Given the description of an element on the screen output the (x, y) to click on. 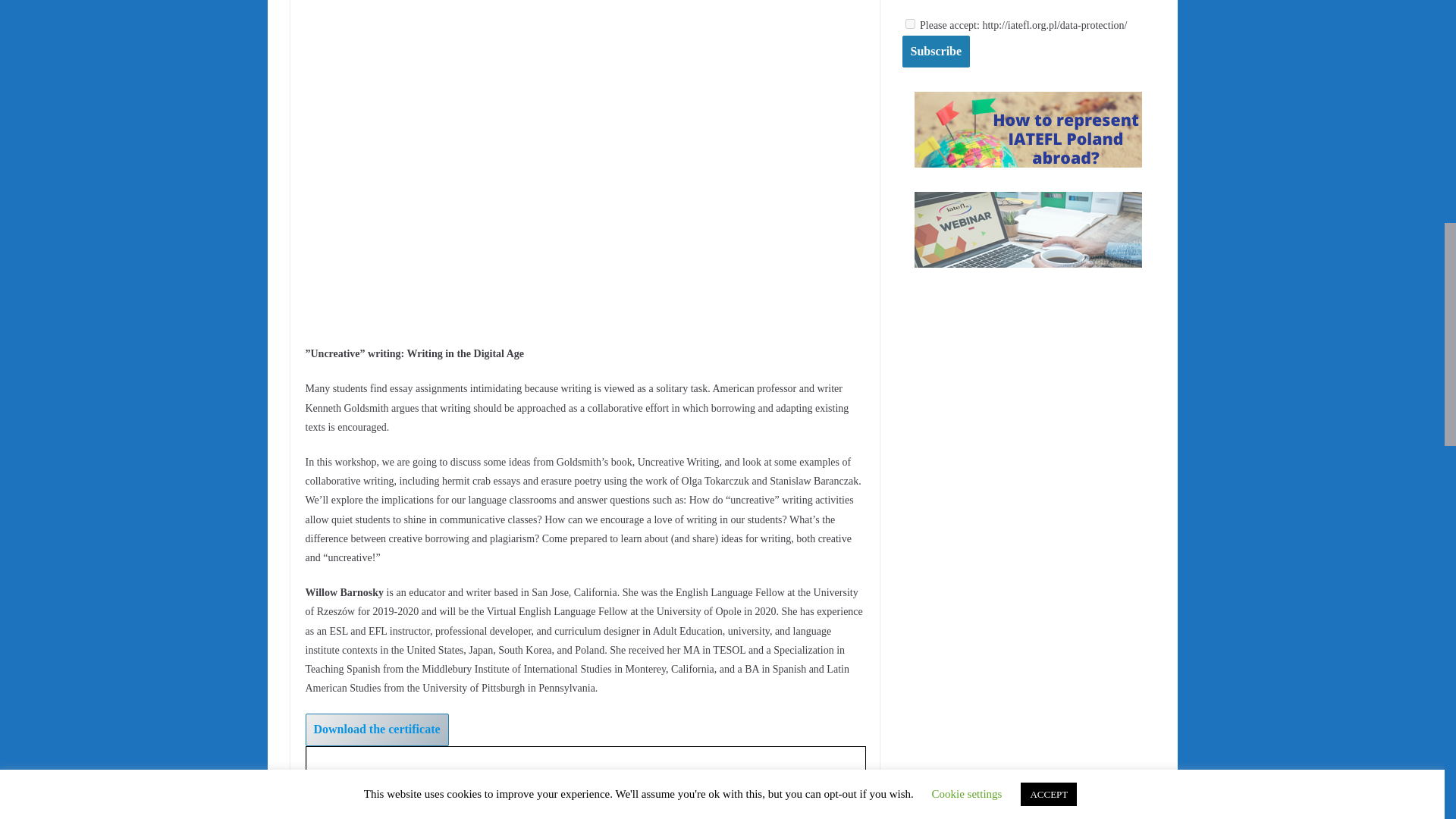
Subscribe (936, 51)
true (910, 23)
